Given the description of an element on the screen output the (x, y) to click on. 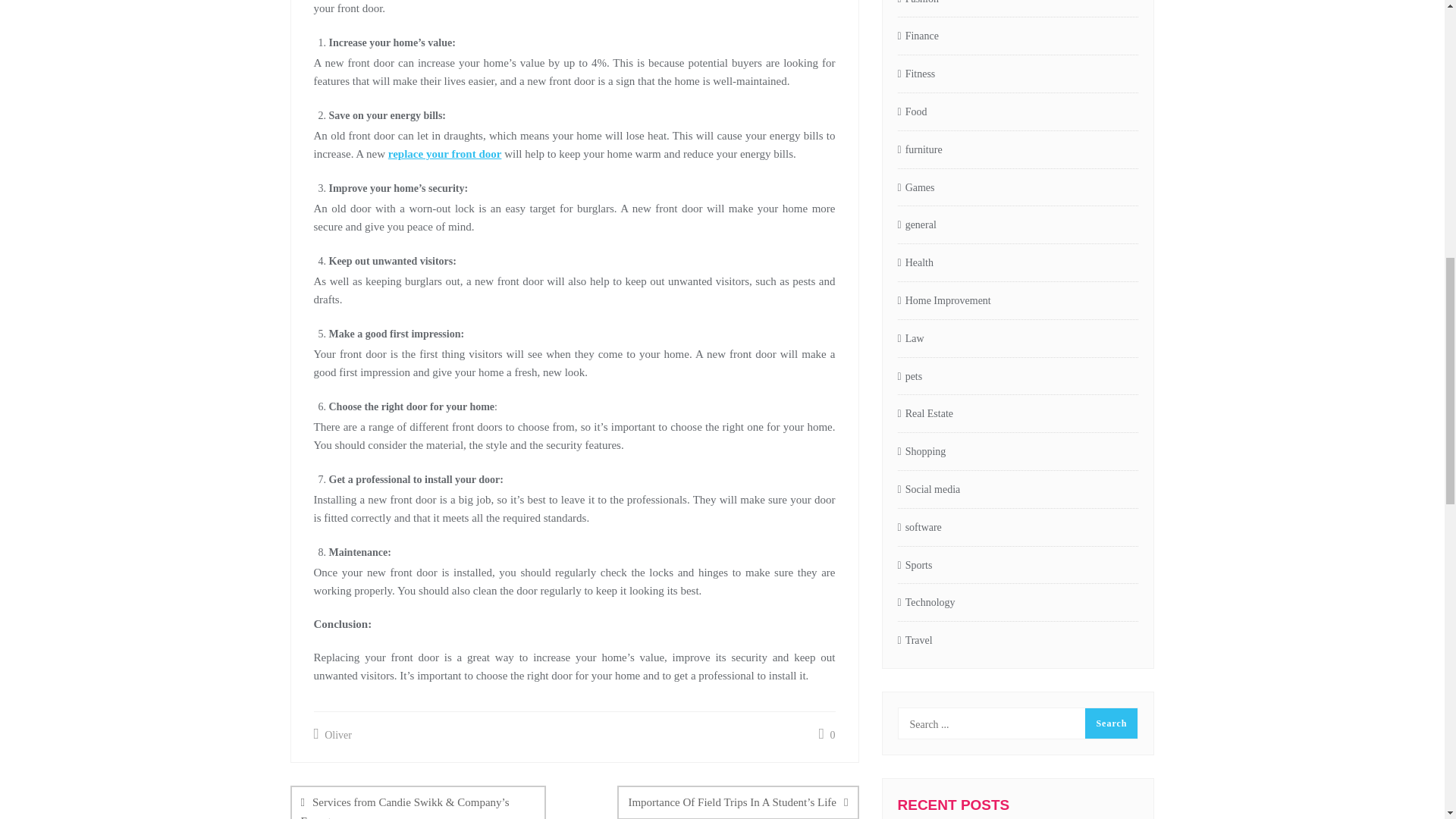
furniture (920, 150)
pets (910, 377)
Oliver (333, 734)
Search (1110, 723)
Fashion (918, 5)
Social media (929, 490)
Finance (918, 36)
Technology (926, 603)
Sports (915, 566)
Law (911, 339)
Shopping (922, 452)
Games (916, 187)
software (920, 527)
replace your front door (445, 153)
Health (915, 263)
